Given the description of an element on the screen output the (x, y) to click on. 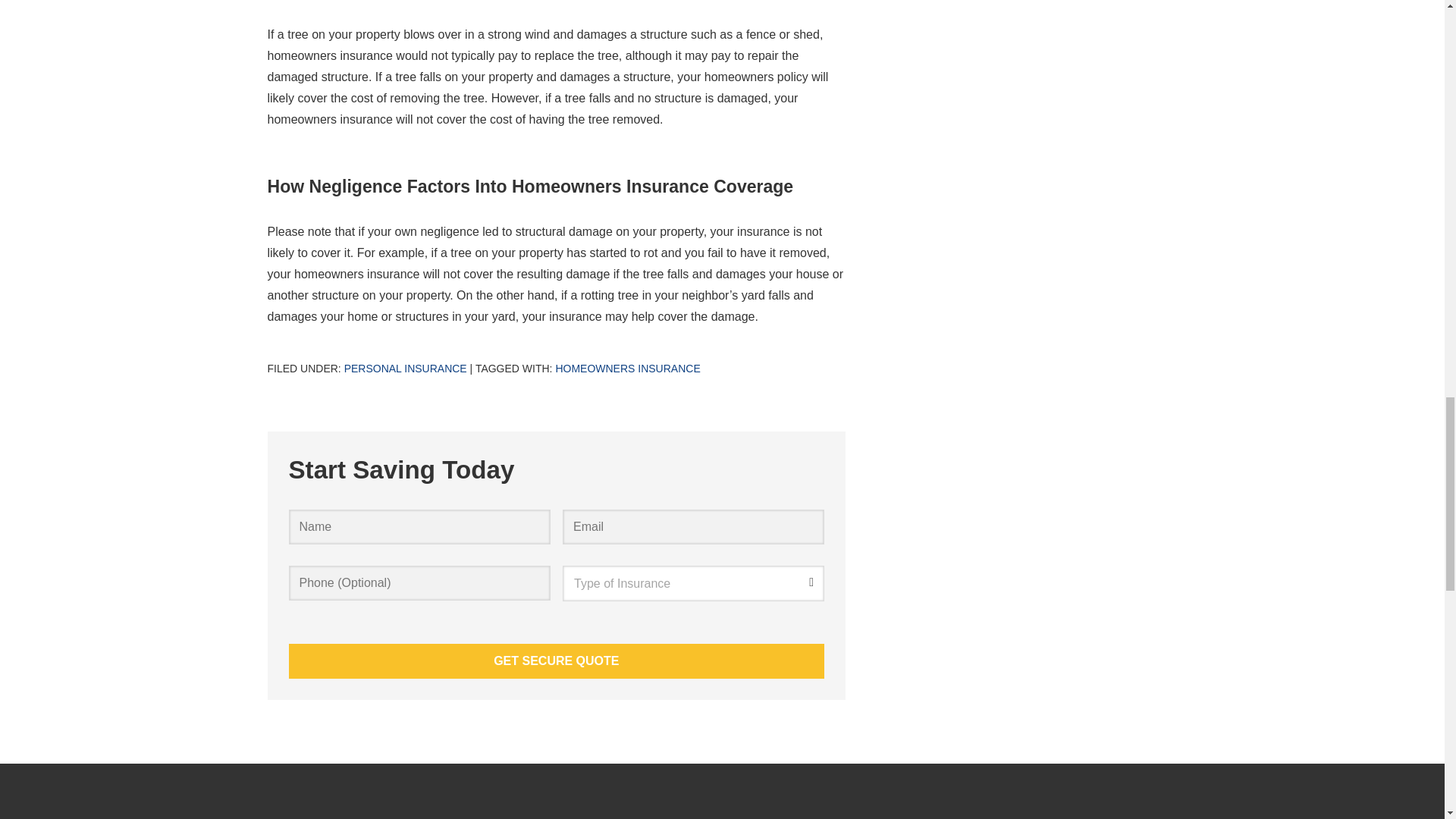
Get Secure Quote (556, 660)
Homeowners Insurance (627, 368)
Personal Insurance (405, 368)
